Given the description of an element on the screen output the (x, y) to click on. 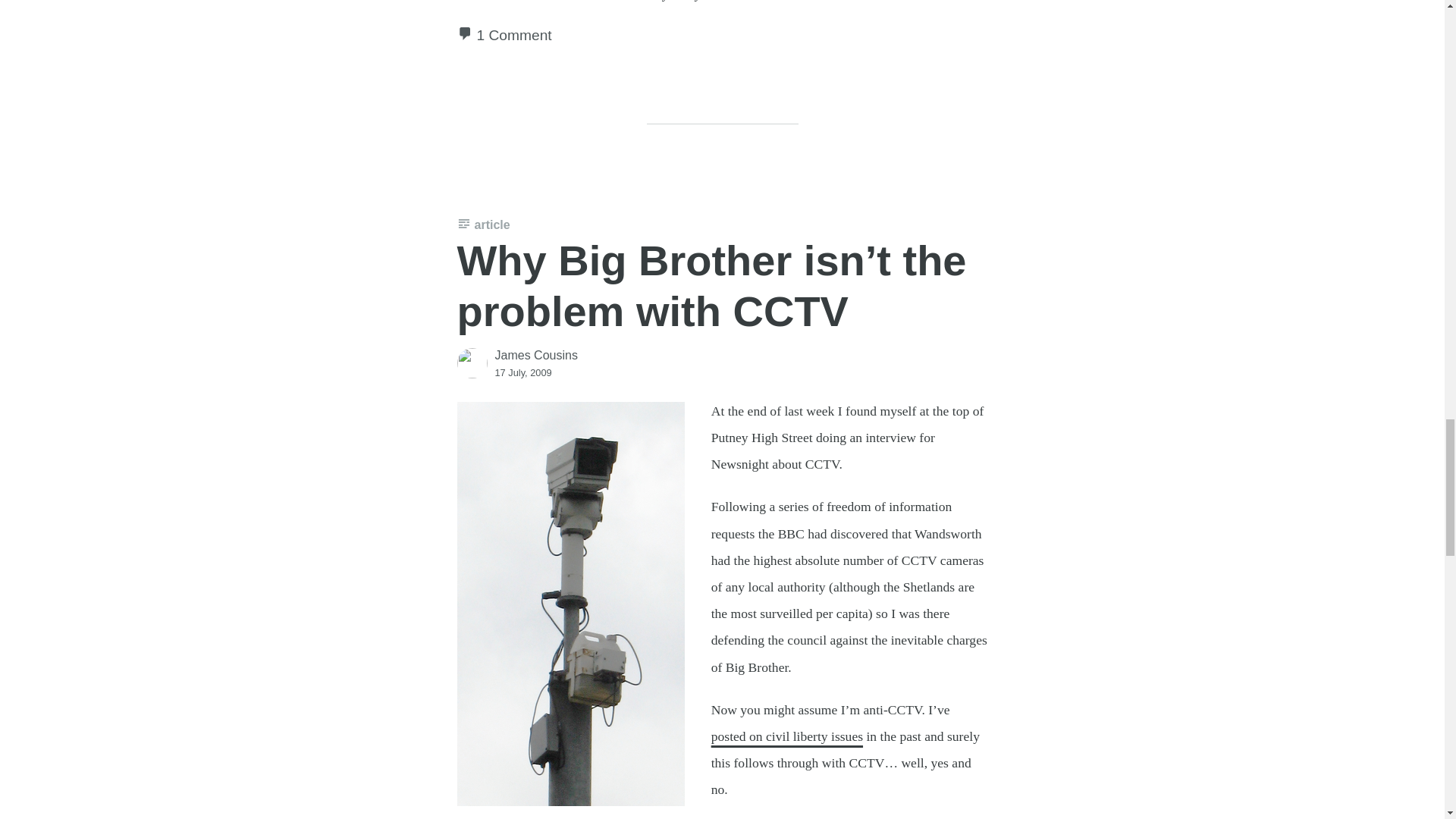
1 Comment (513, 35)
3:37 pm (523, 371)
article (483, 224)
View all posts by James Cousins (535, 354)
James Cousins (535, 354)
posted on civil liberty issues (787, 735)
17 July, 2009 (523, 371)
